Given the description of an element on the screen output the (x, y) to click on. 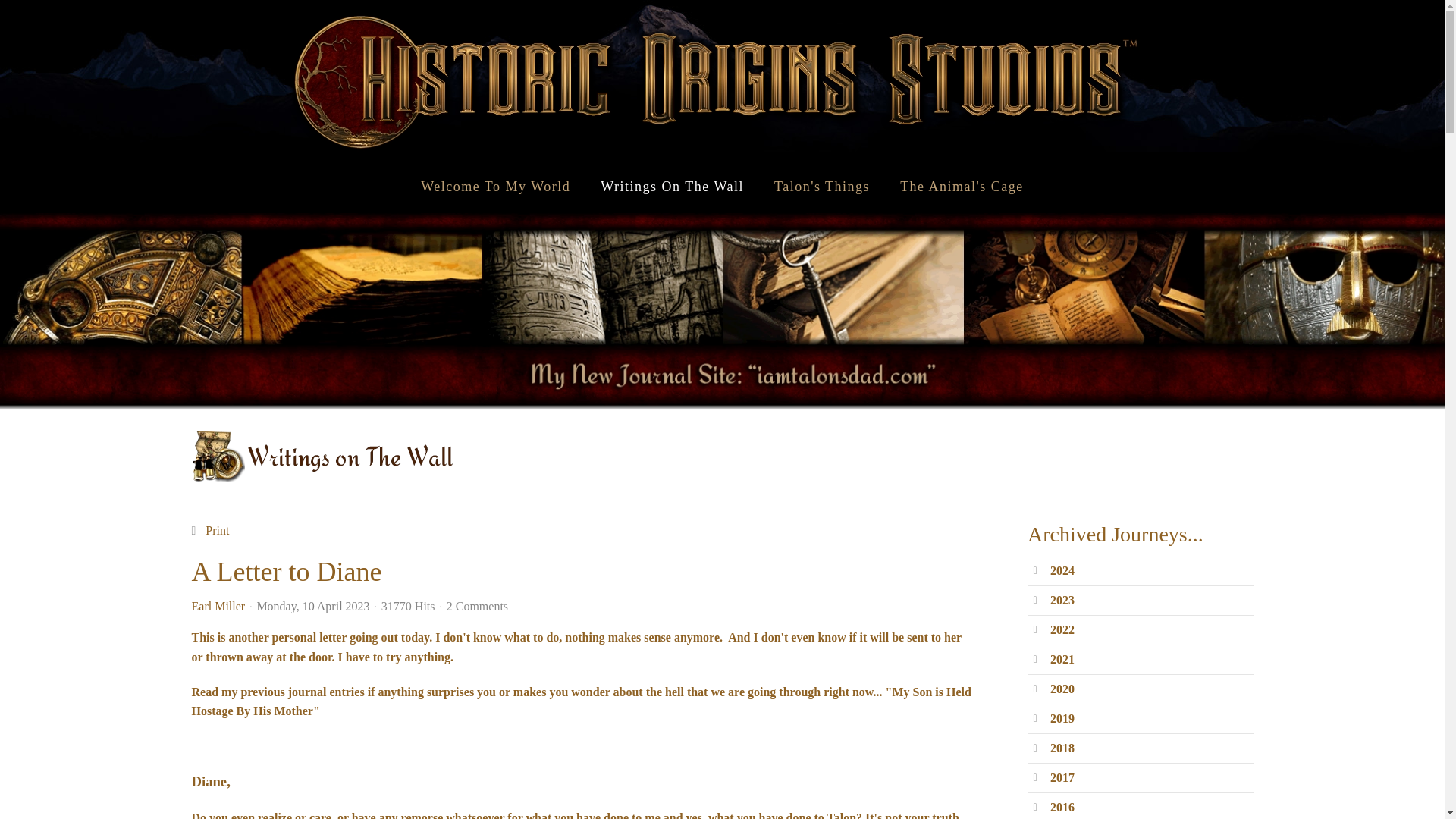
The Animal'S Cage (962, 185)
Earl Miller (217, 605)
2024 (1061, 570)
Print (216, 530)
Print (216, 530)
My Son is Held Hostage By His Mother (580, 701)
Talon'S Things (821, 185)
2023 (1061, 599)
Writings On The Wall (671, 185)
2 Comments (477, 605)
Welcome To My World (495, 185)
